Given the description of an element on the screen output the (x, y) to click on. 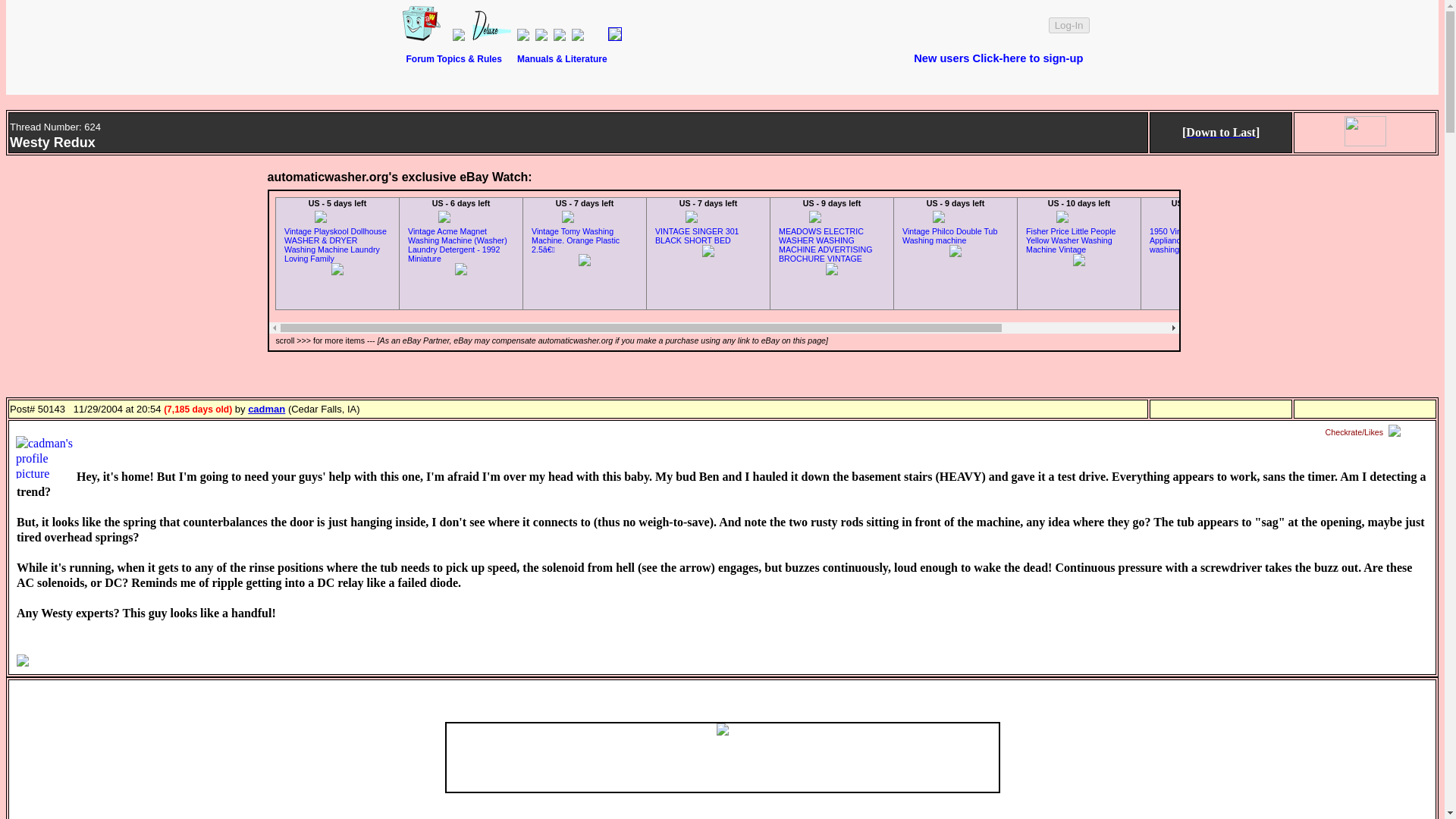
Log-In (1068, 25)
New users Click-here to sign-up (998, 58)
cadman (266, 408)
You must be logged in to checkrate posts (1364, 431)
